Given the description of an element on the screen output the (x, y) to click on. 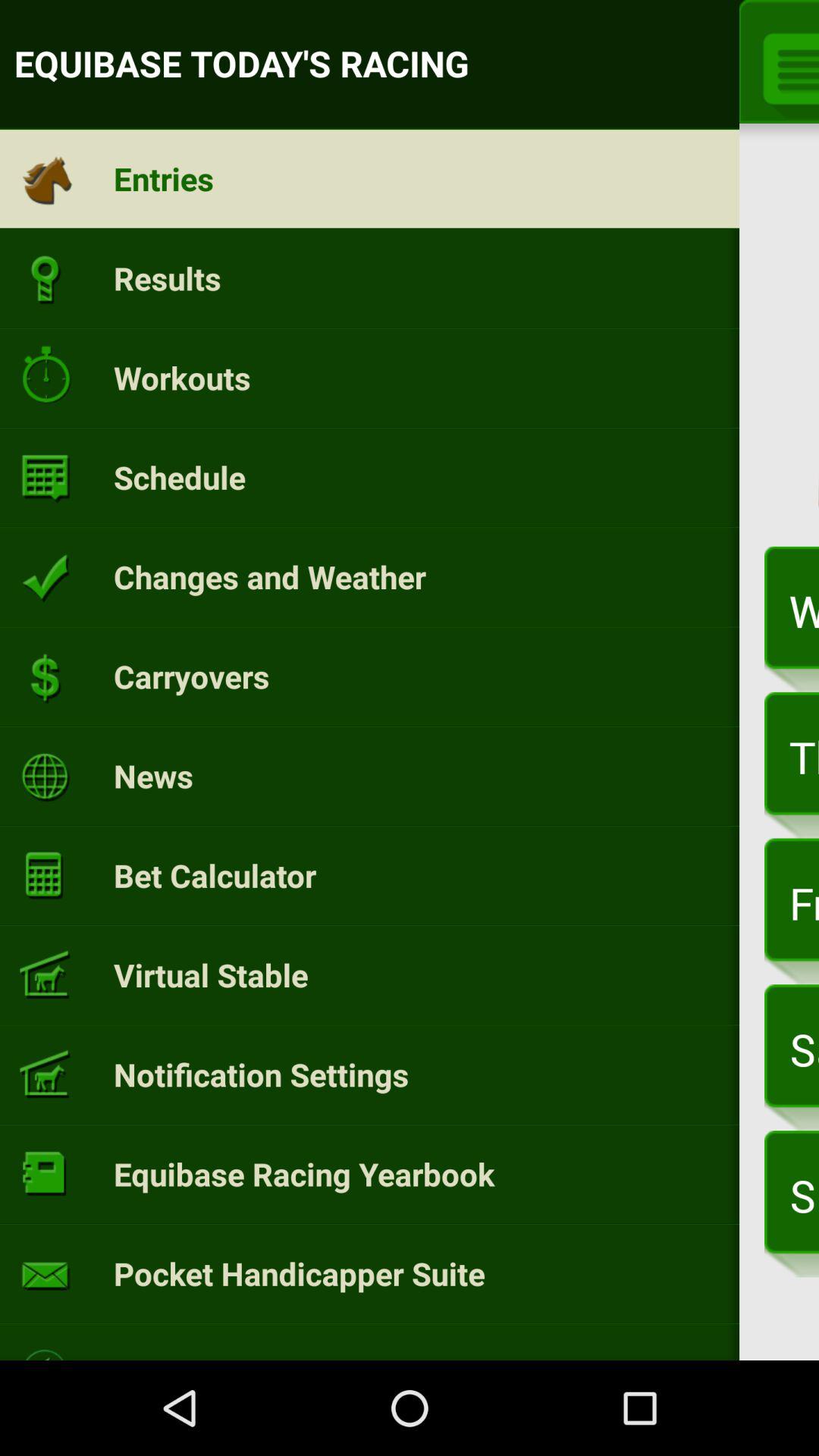
launch carryovers icon (191, 675)
